Given the description of an element on the screen output the (x, y) to click on. 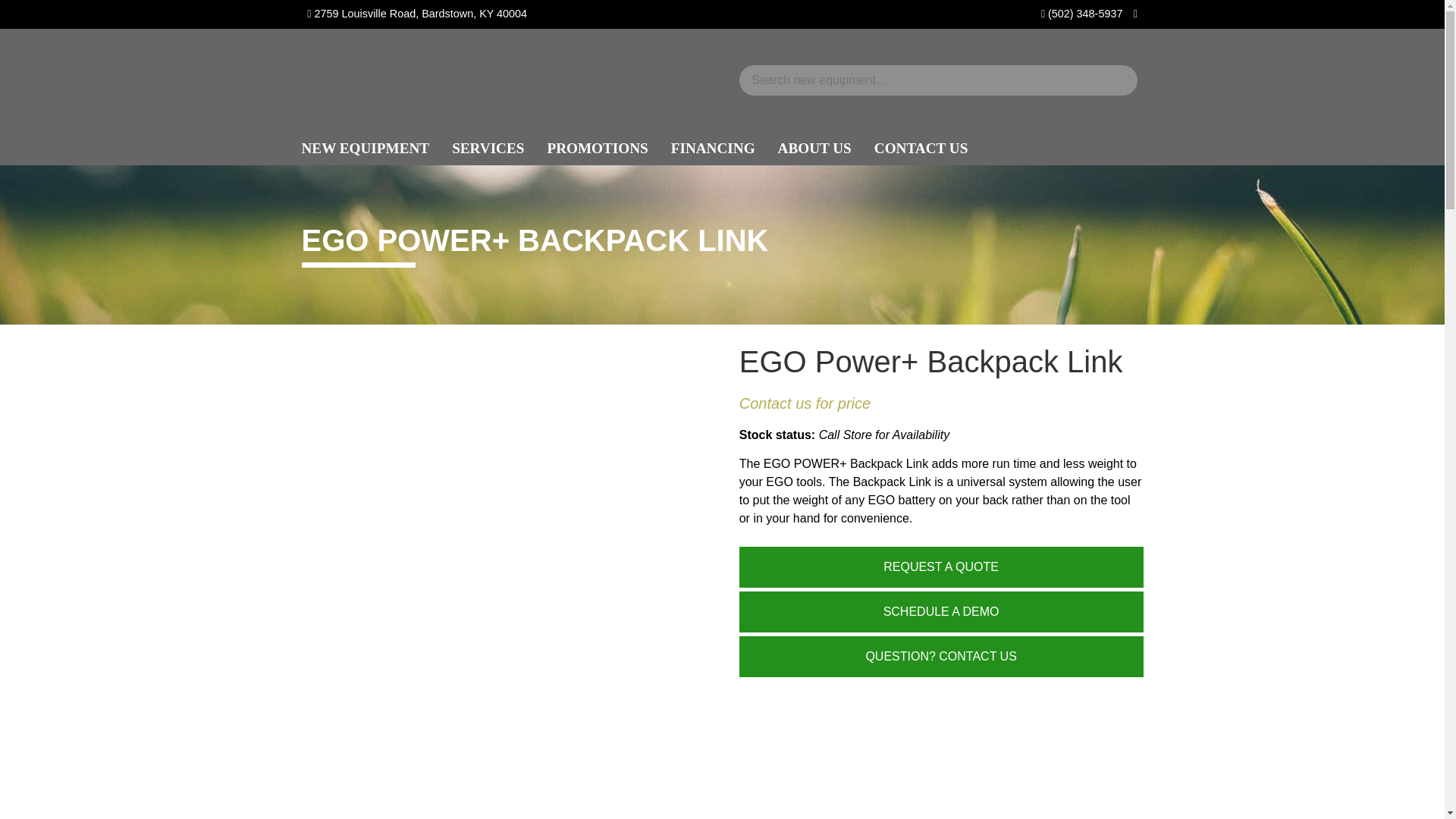
SCHEDULE A DEMO (940, 611)
ABOUT US (815, 148)
CONTACT US (921, 148)
REQUEST A QUOTE (940, 567)
FINANCING (713, 148)
2759 Louisville Road, Bardstown, KY 40004 (420, 13)
NEW EQUIPMENT (365, 148)
QUESTION? CONTACT US (940, 656)
Search (32, 15)
SERVICES (488, 148)
